Given the description of an element on the screen output the (x, y) to click on. 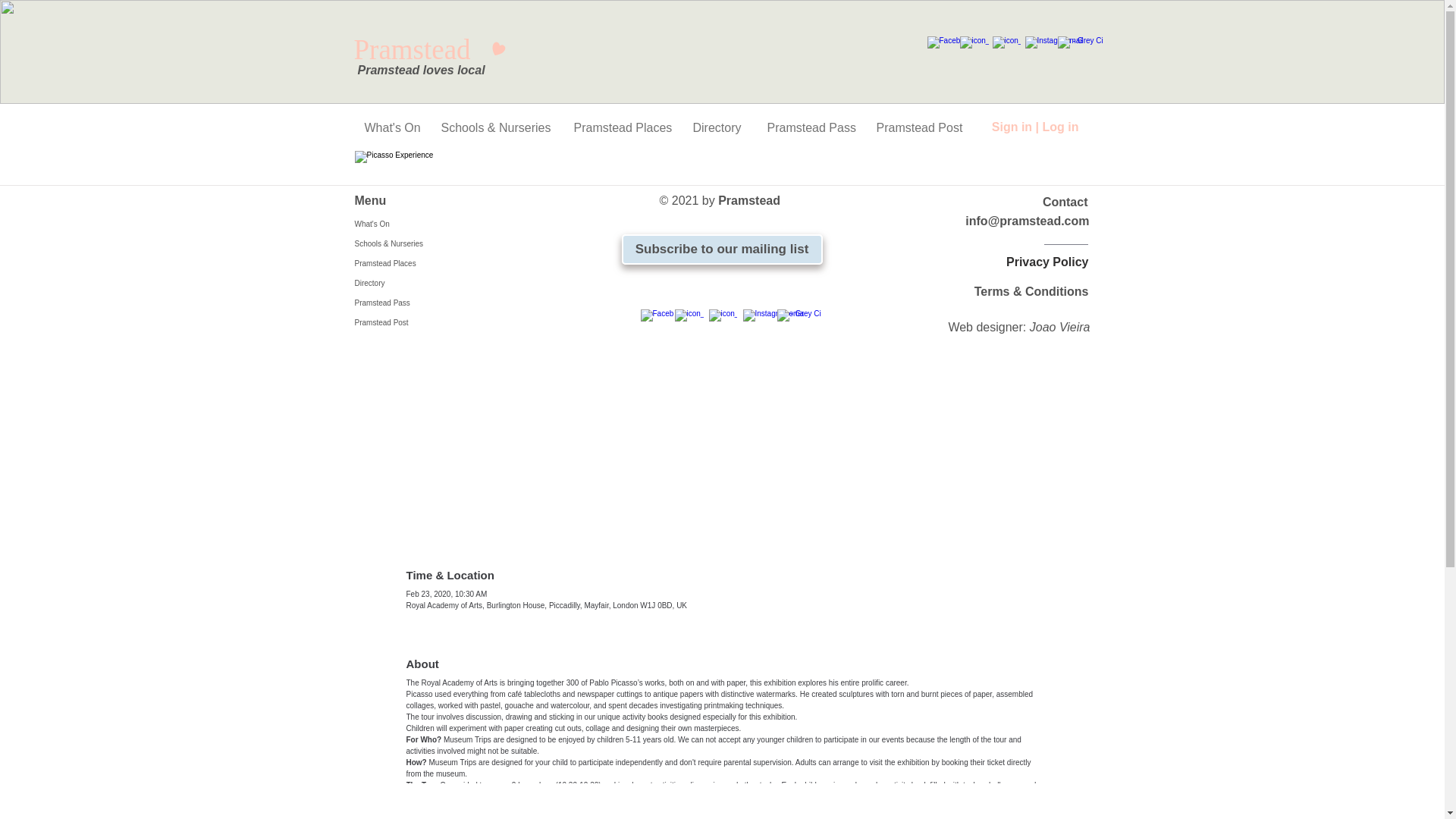
Pramstead Pass (809, 127)
What's On (391, 127)
Directory (718, 127)
Pramstead (429, 49)
Pramstead Post (918, 127)
What's On (425, 224)
Pramstead Places (621, 127)
